Given the description of an element on the screen output the (x, y) to click on. 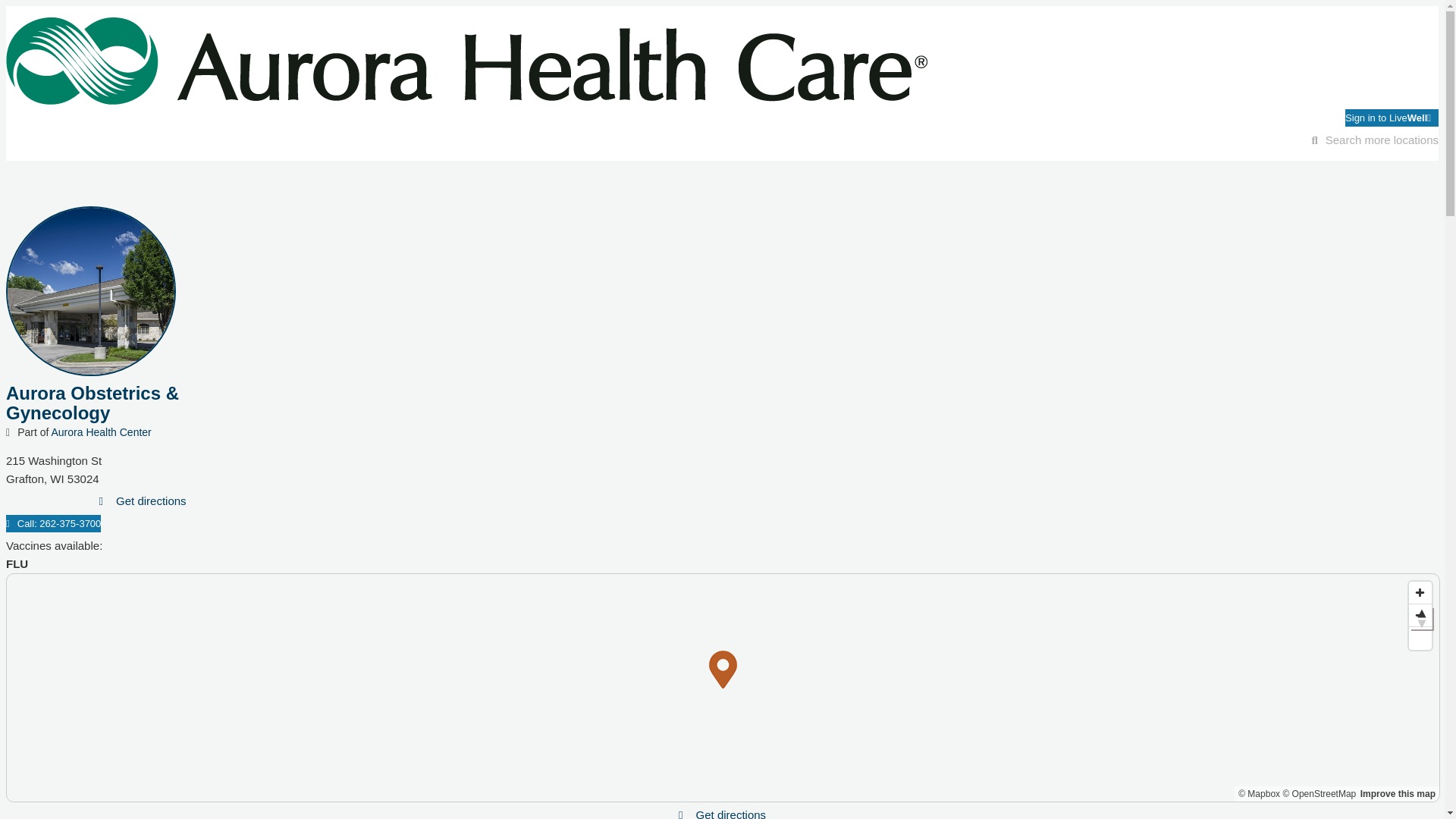
OpenStreetMap (1318, 793)
Improve this map (1397, 793)
Improve this map (1397, 793)
Aurora Health Center (100, 431)
Sign in to LiveWell (1391, 117)
Call: 262-375-3700 (52, 523)
Mapbox (1259, 793)
Get directions (731, 813)
Get directions (151, 500)
Search more locations (1374, 139)
